Given the description of an element on the screen output the (x, y) to click on. 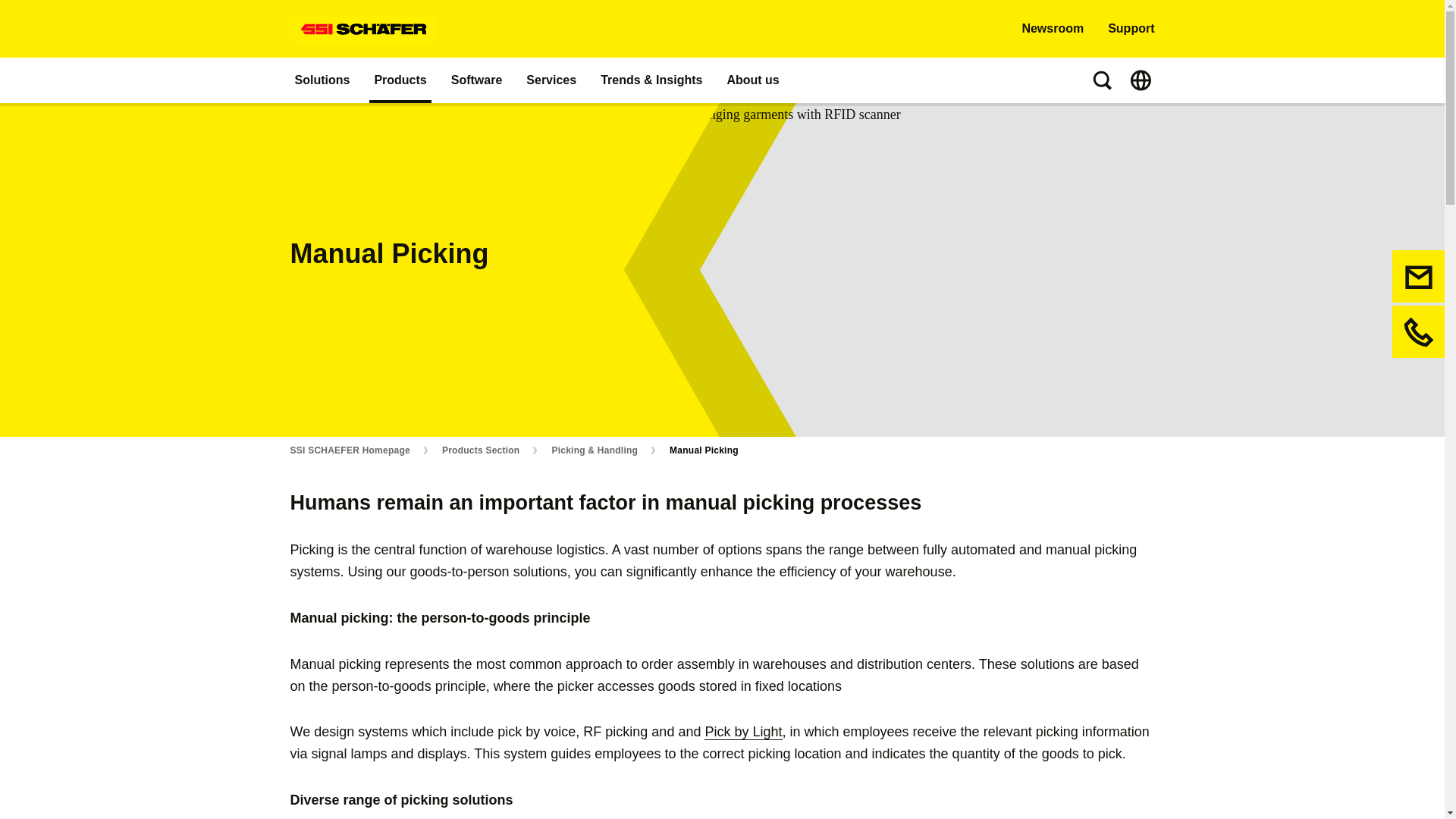
Support (1131, 28)
Solutions (321, 80)
Newsroom (1052, 28)
